Given the description of an element on the screen output the (x, y) to click on. 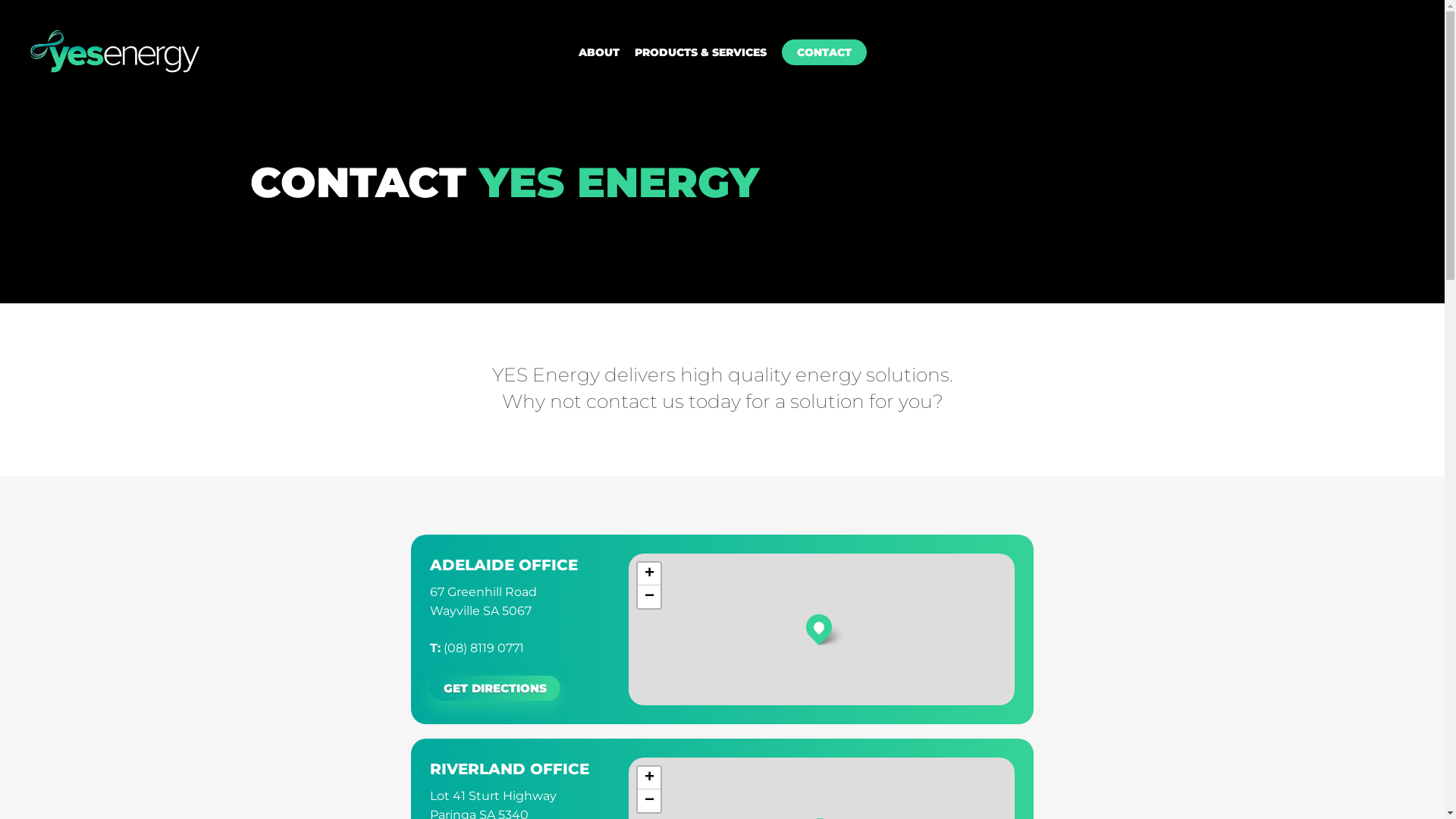
+ Element type: text (648, 777)
Menu Element type: text (1415, 7)
GET DIRECTIONS Element type: text (494, 687)
PRODUCTS & SERVICES Element type: text (699, 51)
ABOUT Element type: text (597, 51)
CONTACT Element type: text (823, 51)
+ Element type: text (648, 573)
